Given the description of an element on the screen output the (x, y) to click on. 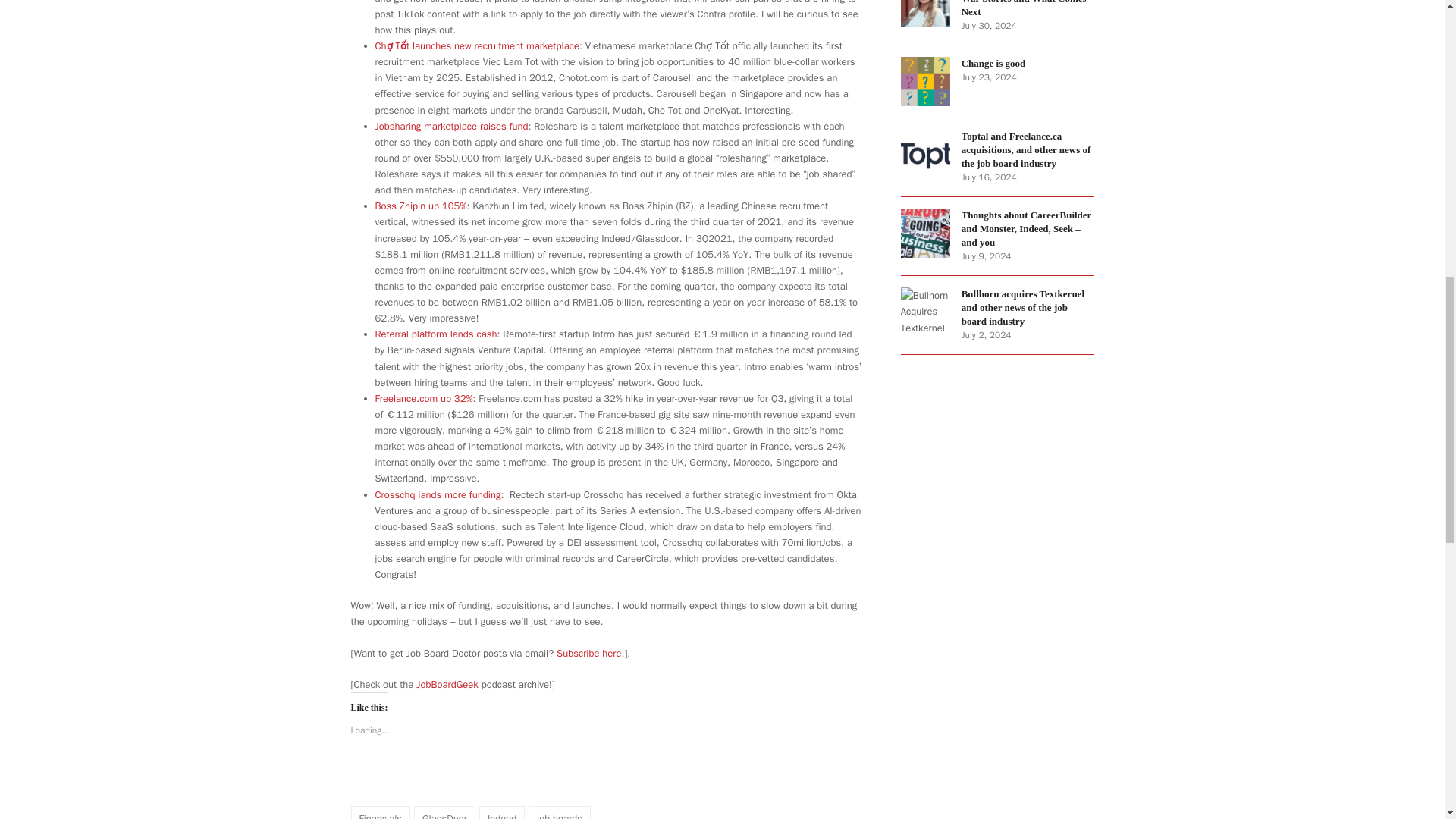
Jobsharing marketplace raises fund (450, 125)
Subscribe here (588, 652)
Crosschq lands more funding (437, 494)
 JobBoardGeek (445, 684)
Referral platform lands cash (435, 333)
